Given the description of an element on the screen output the (x, y) to click on. 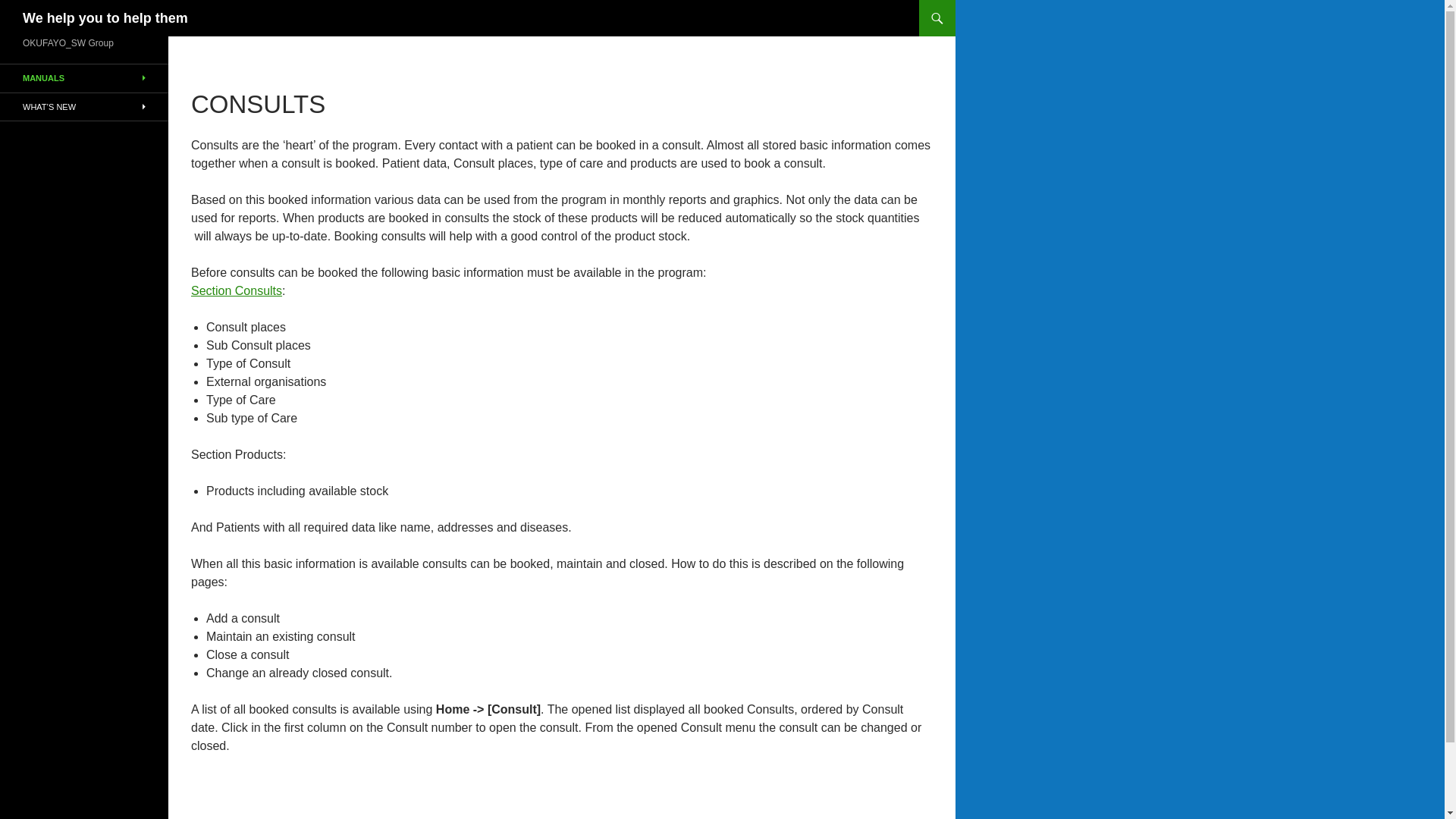
MANUALS (84, 78)
Section Consults (236, 290)
We help you to help them (105, 18)
